Given the description of an element on the screen output the (x, y) to click on. 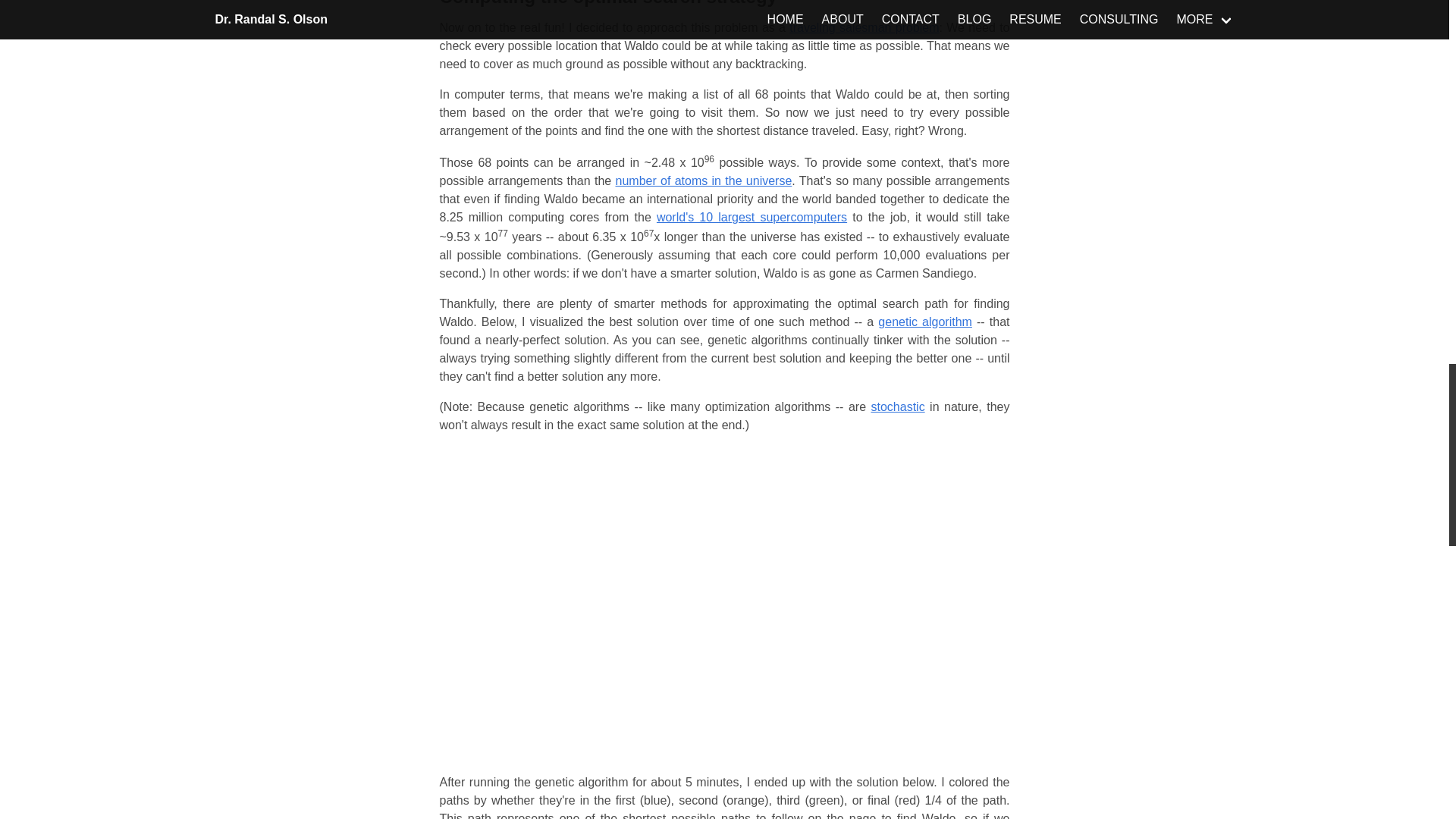
traveling salesman problem (864, 27)
number of atoms in the universe (703, 180)
genetic algorithm (924, 321)
world's 10 largest supercomputers (751, 216)
stochastic (897, 406)
